Given the description of an element on the screen output the (x, y) to click on. 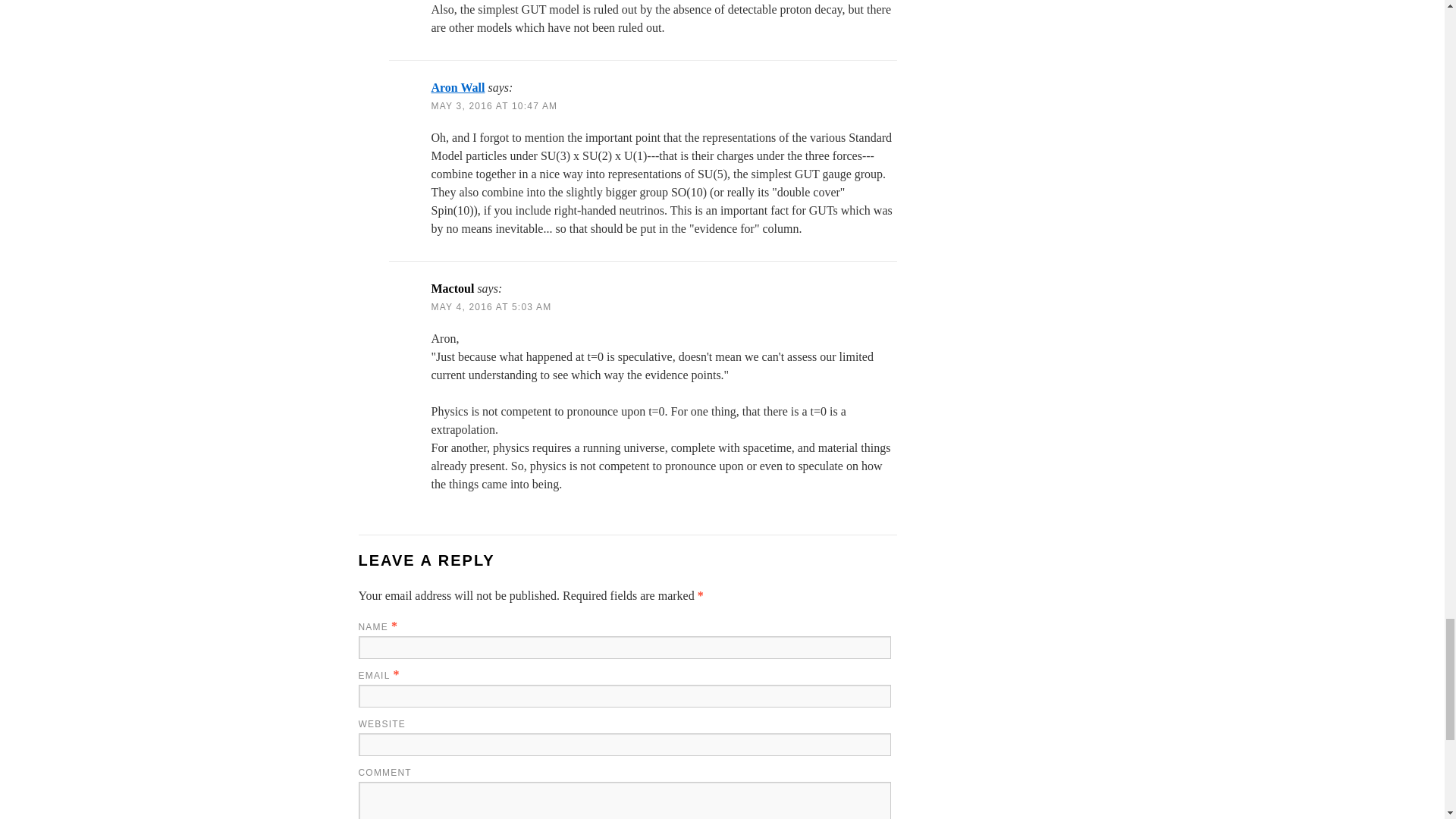
MAY 4, 2016 AT 5:03 AM (490, 307)
MAY 3, 2016 AT 10:47 AM (493, 105)
Aron Wall (457, 87)
